Given the description of an element on the screen output the (x, y) to click on. 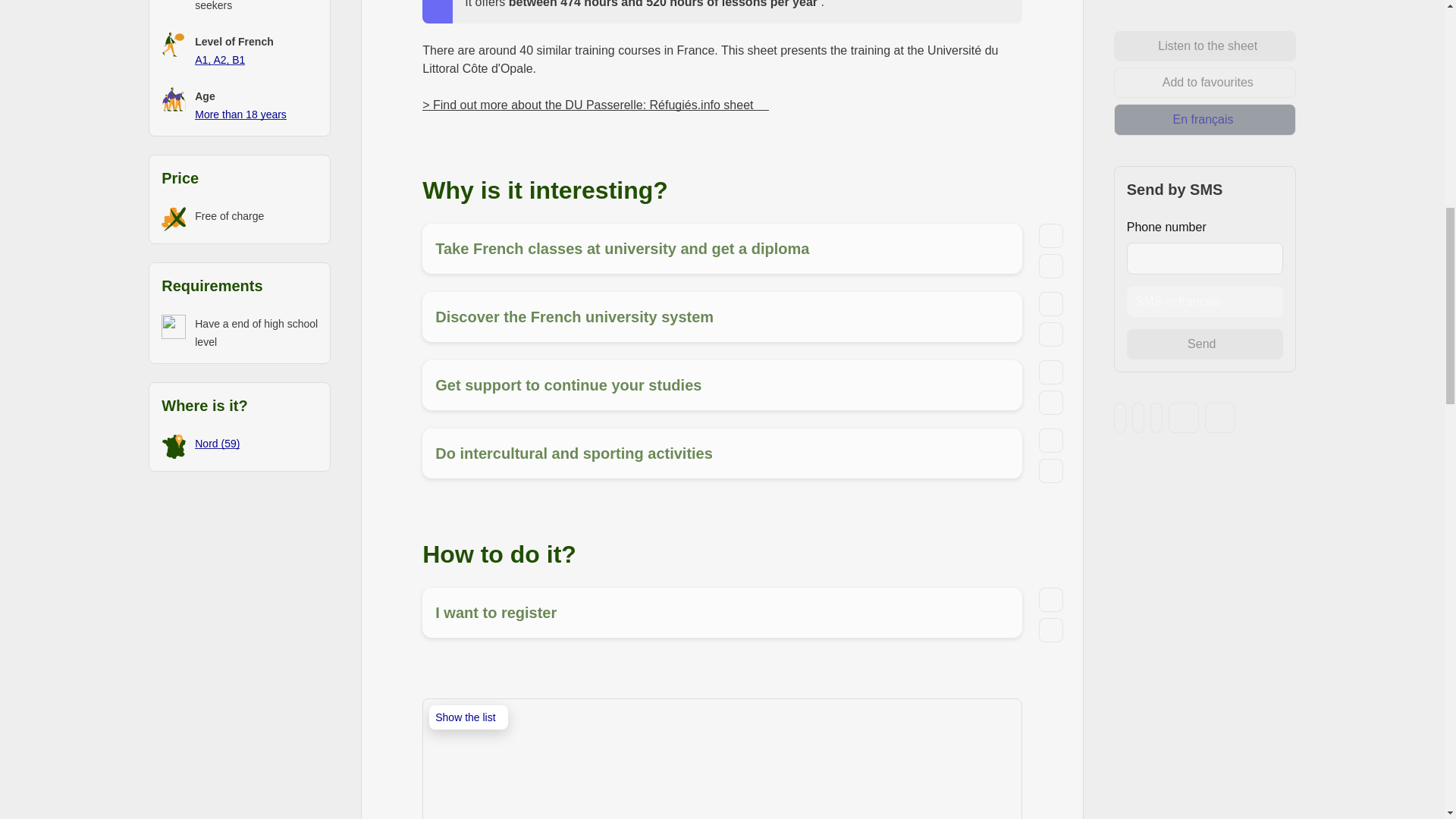
Listen (1050, 371)
React (1050, 401)
More than 18 years (240, 113)
React (1050, 333)
Listen (1050, 303)
Listen (1050, 234)
A1, A2, B1 (219, 59)
React (1050, 265)
